Given the description of an element on the screen output the (x, y) to click on. 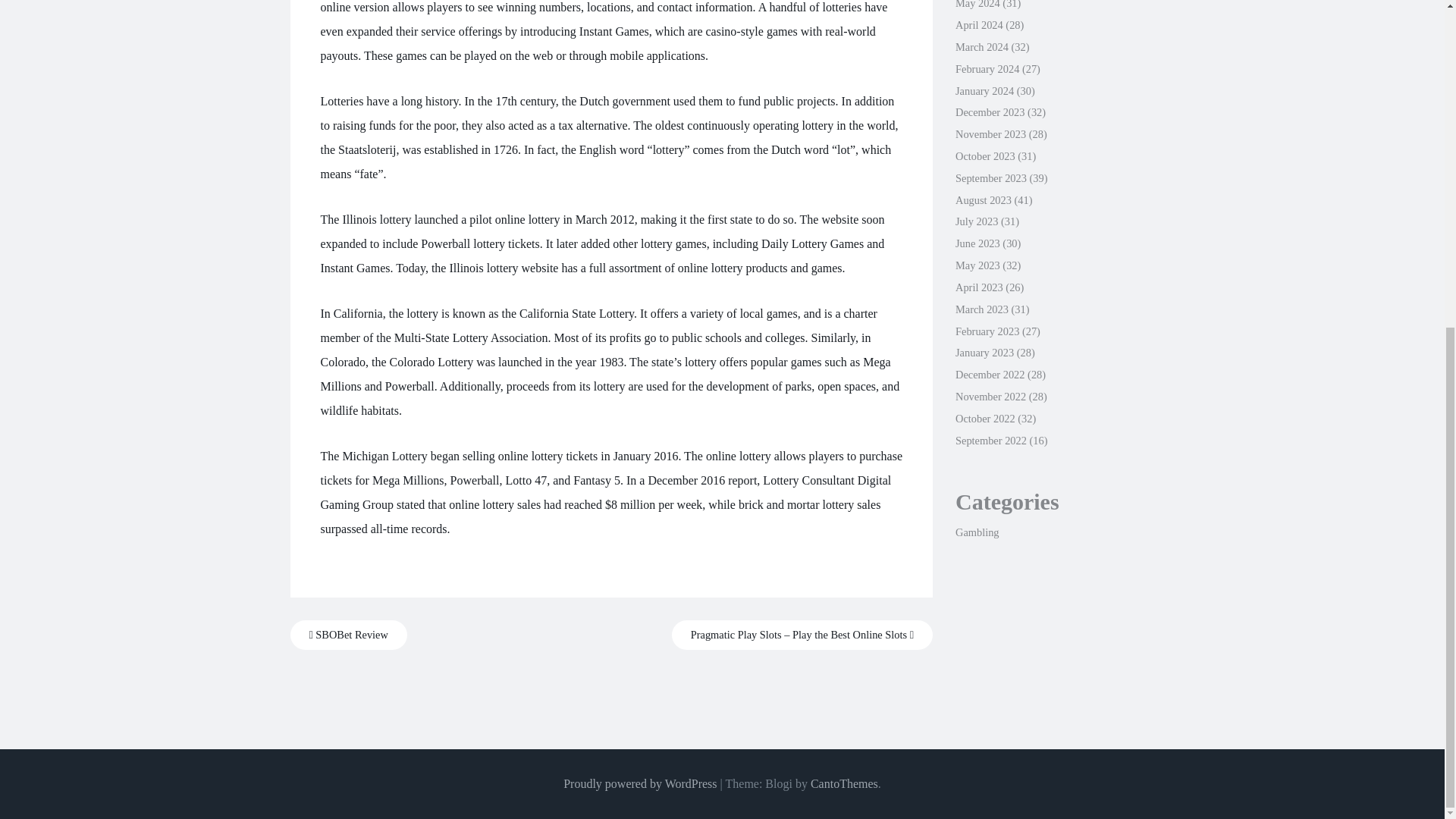
Proudly powered by WordPress (639, 783)
October 2023 (984, 155)
October 2022 (984, 418)
February 2023 (987, 331)
March 2023 (982, 309)
June 2023 (977, 243)
September 2022 (990, 440)
SBOBet Review (347, 634)
April 2024 (979, 24)
Gambling (976, 532)
September 2023 (990, 177)
December 2023 (990, 111)
March 2024 (982, 46)
CantoThemes (843, 783)
January 2023 (984, 352)
